Given the description of an element on the screen output the (x, y) to click on. 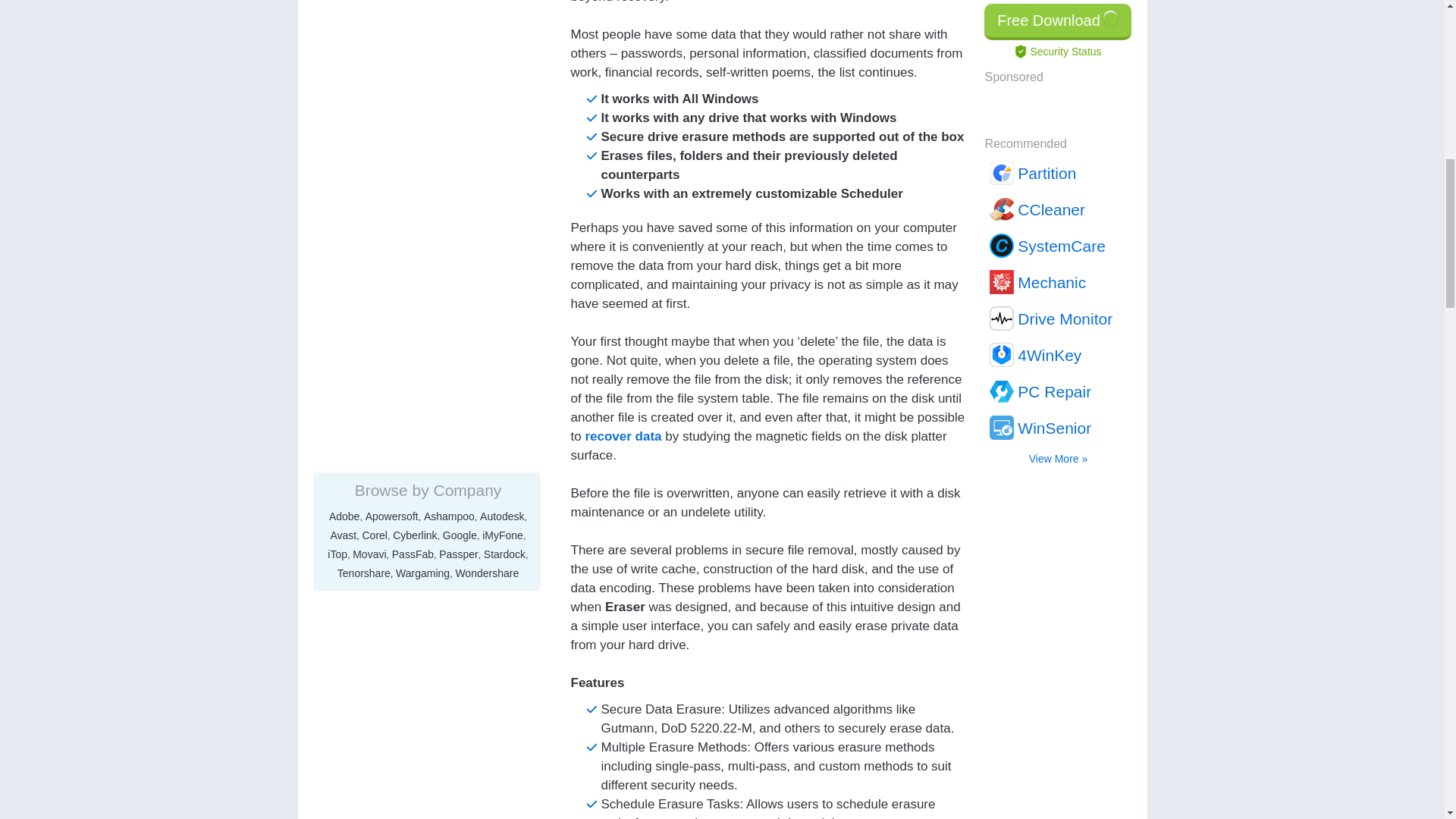
WinSenior (1059, 11)
Autodesk (502, 87)
Movavi (368, 125)
Ashampoo (448, 87)
Wondershare (486, 144)
Corel (374, 106)
iMyFone (501, 106)
Google (459, 106)
Passper (458, 125)
Wargaming (422, 144)
